Given the description of an element on the screen output the (x, y) to click on. 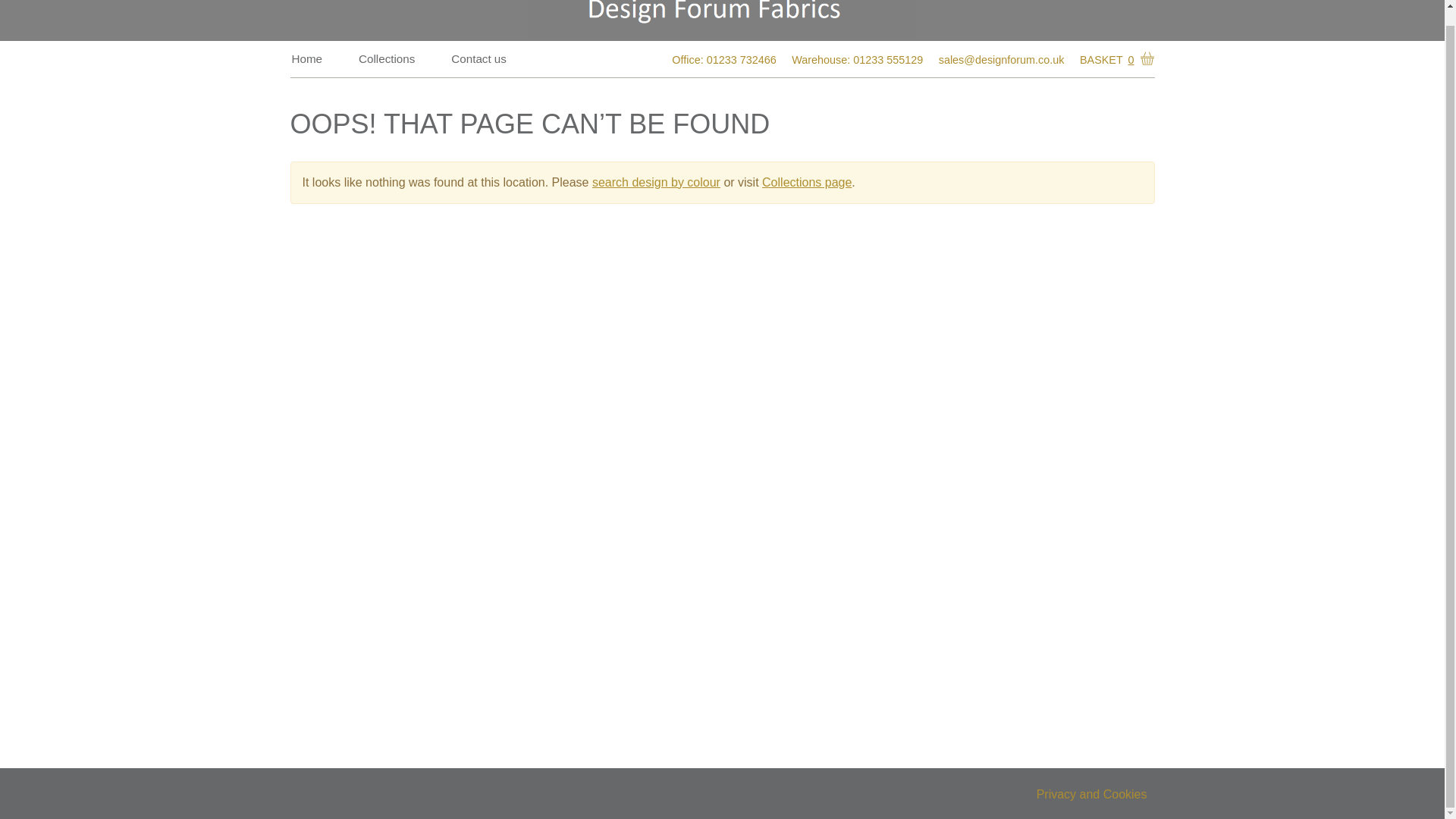
Collections (386, 58)
Warehouse: 01233 555129 (857, 59)
Privacy and Cookies (1091, 794)
Home (307, 58)
Collections page (806, 182)
Design Forum (721, 20)
Office: 01233 732466 (723, 59)
Contact us (478, 58)
BASKET 0 (1114, 59)
search design by colour (656, 182)
